Given the description of an element on the screen output the (x, y) to click on. 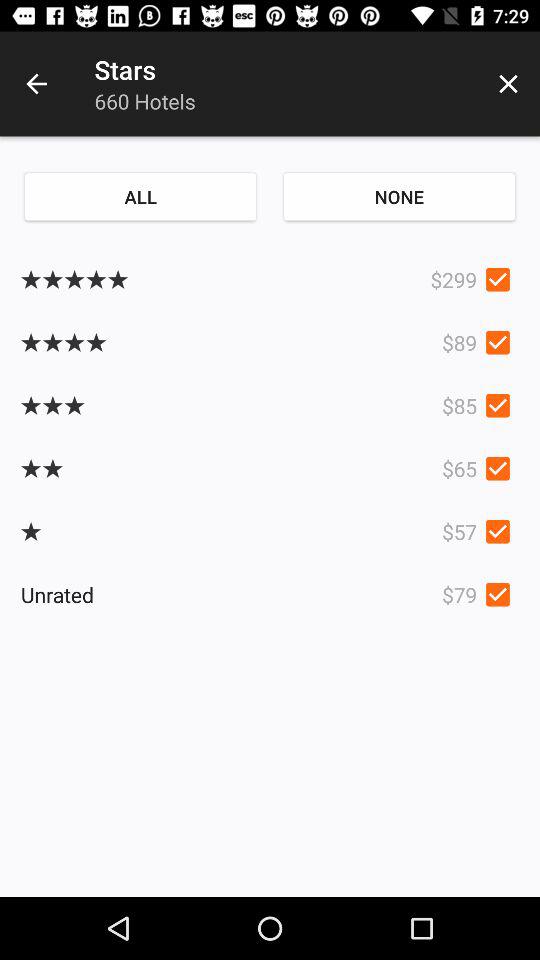
flip until none item (399, 196)
